Given the description of an element on the screen output the (x, y) to click on. 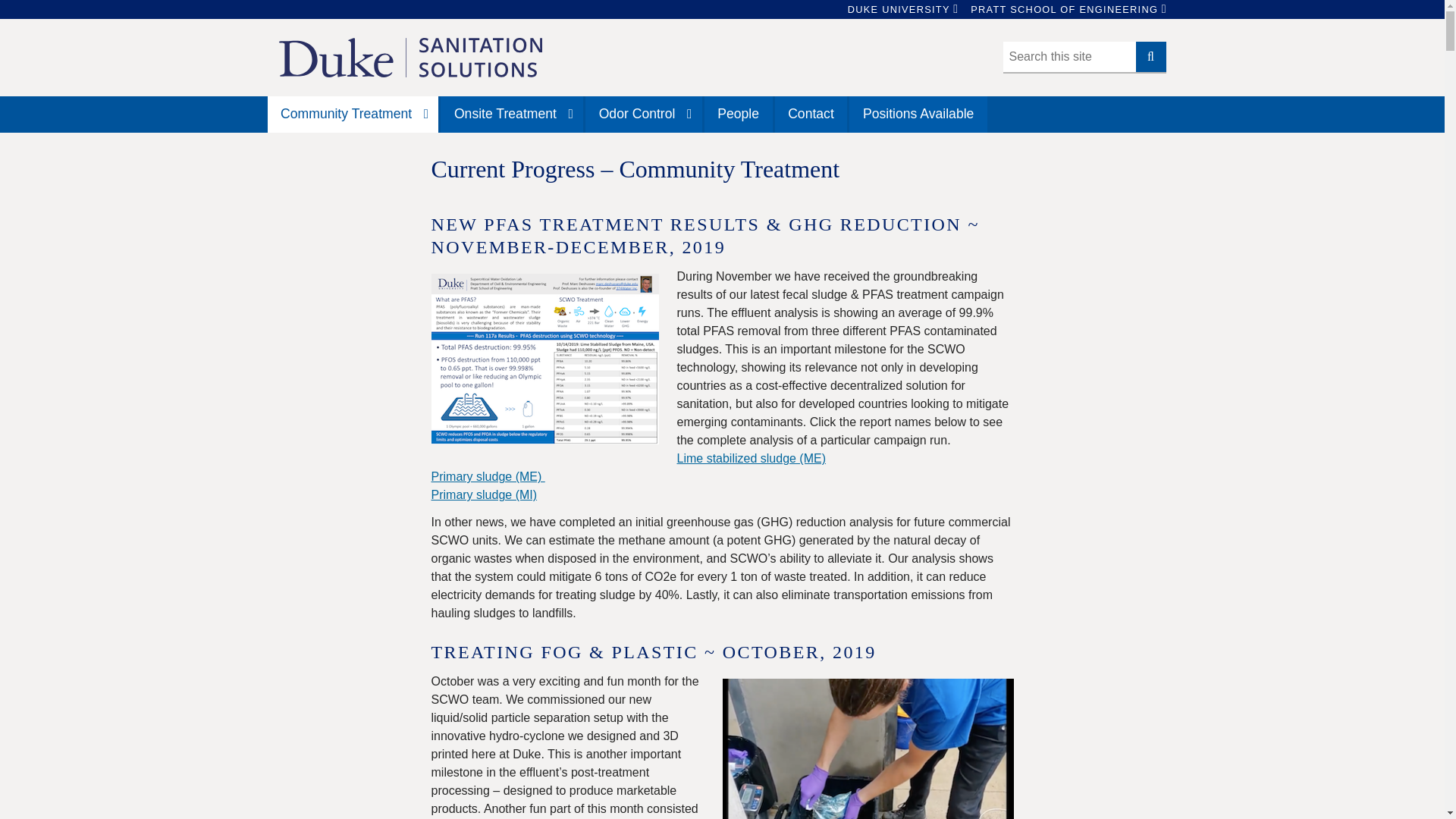
DUKE UNIVERSITY (898, 9)
Faculty and Staff (738, 114)
Home (410, 56)
PRATT SCHOOL OF ENGINEERING (1064, 9)
Contact (810, 114)
Enter the terms you wish to search for. (1069, 56)
